Given the description of an element on the screen output the (x, y) to click on. 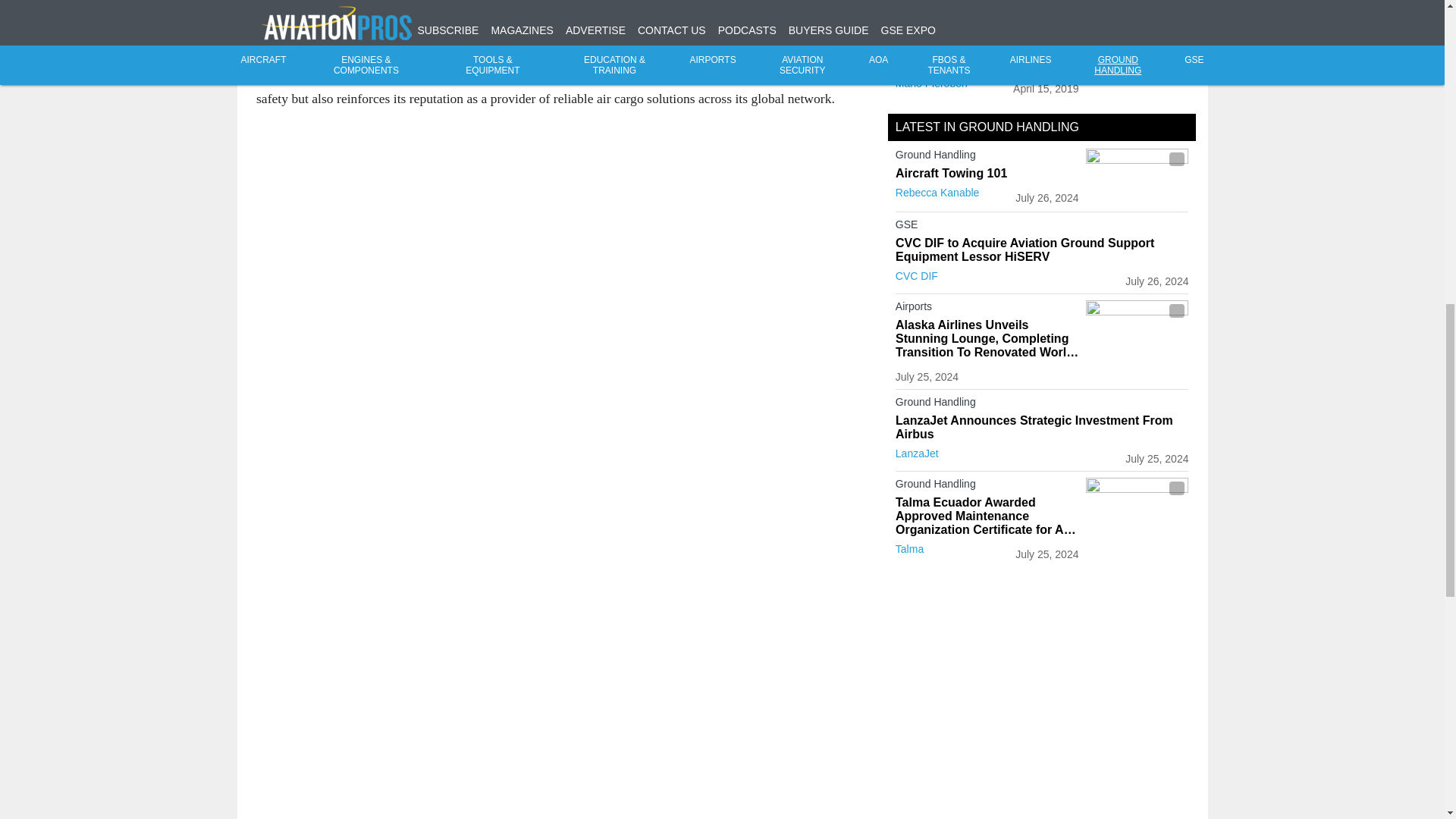
Prague Airport 151017 79 Loga (1137, 40)
Mario Pierobon (931, 82)
LATEST IN GROUND HANDLING (986, 126)
